Given the description of an element on the screen output the (x, y) to click on. 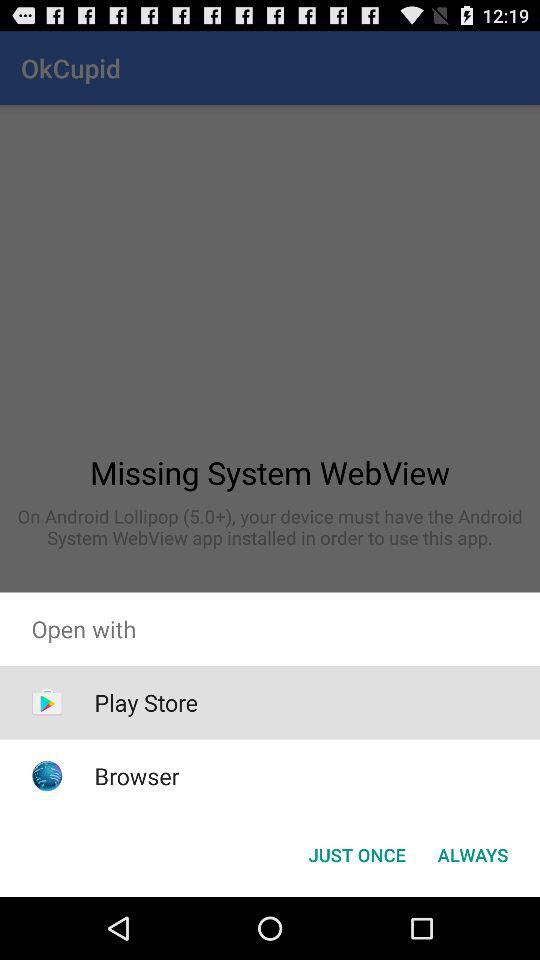
click icon at the bottom (356, 854)
